Given the description of an element on the screen output the (x, y) to click on. 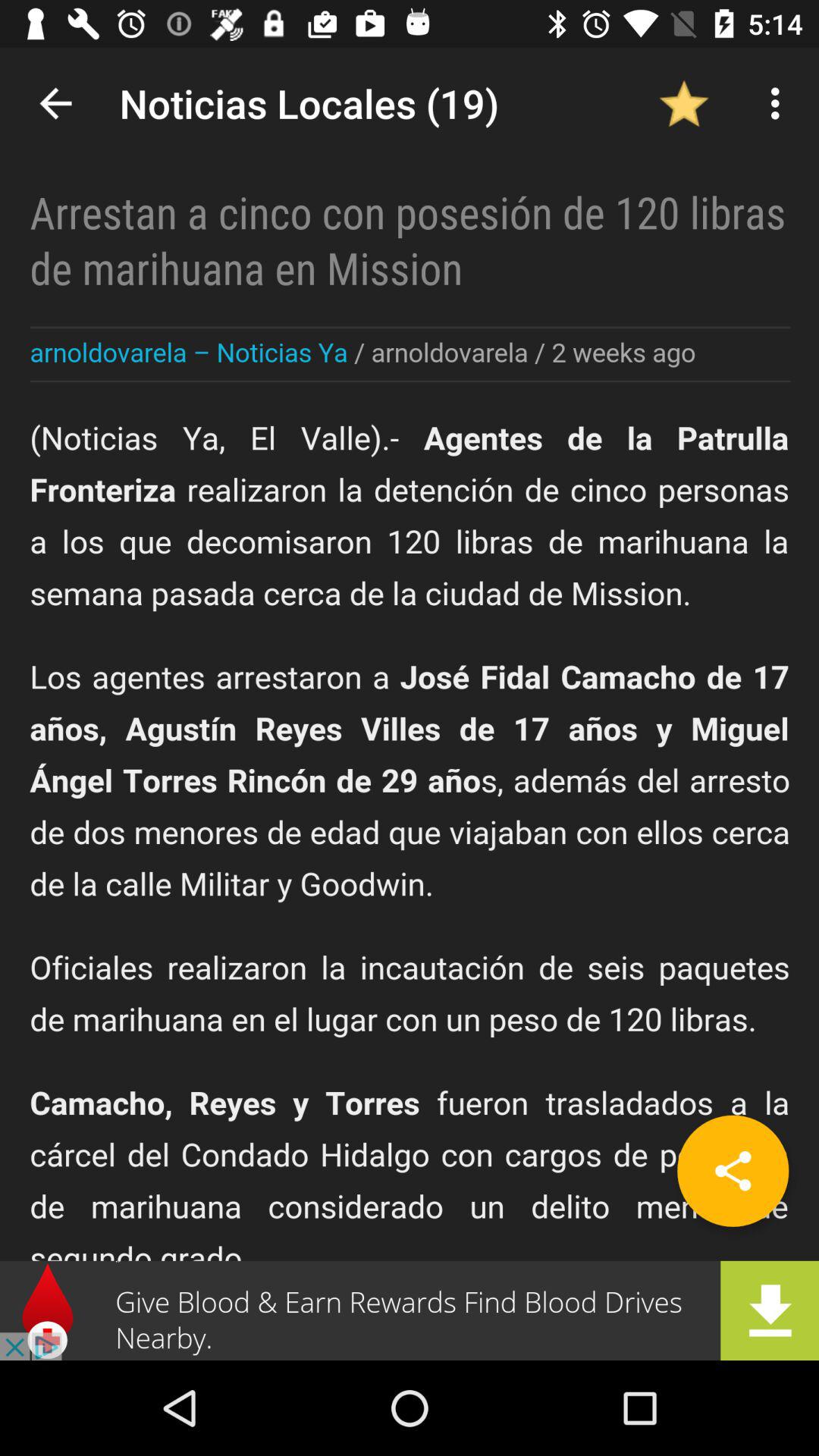
gives list of blood drives in area (409, 1310)
